Given the description of an element on the screen output the (x, y) to click on. 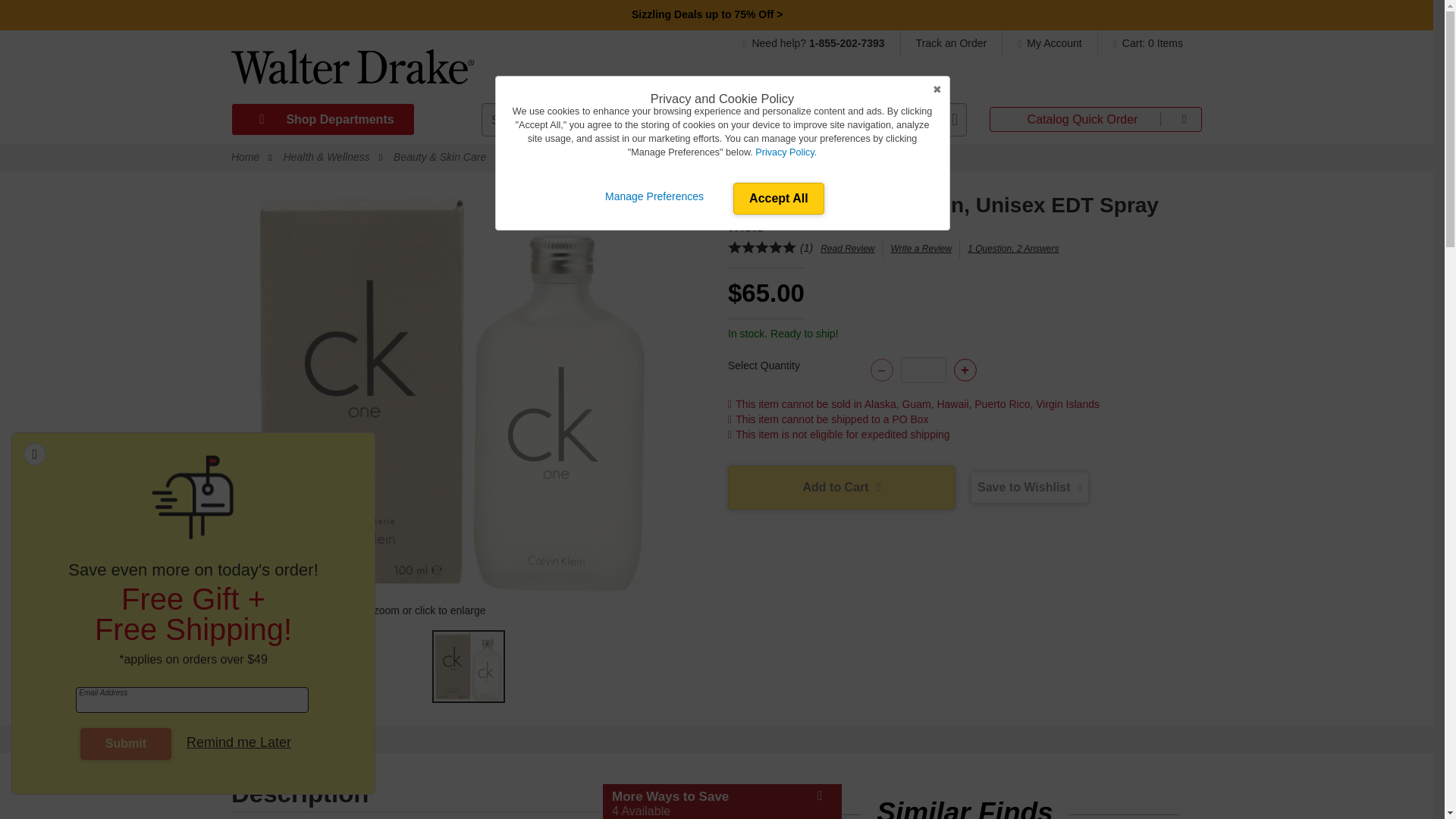
Track an Order (952, 43)
My Account (1050, 43)
Homepage Link (351, 72)
Increase (964, 369)
Need help? 1-855-202-7393 (820, 43)
Shop Departments  (322, 119)
Item Quantity: 1 (923, 370)
Review Count: 1 (805, 247)
sale (707, 14)
Decrease (881, 369)
Star Rating: 5 (762, 249)
Cart: 0 Items (1144, 43)
